Given the description of an element on the screen output the (x, y) to click on. 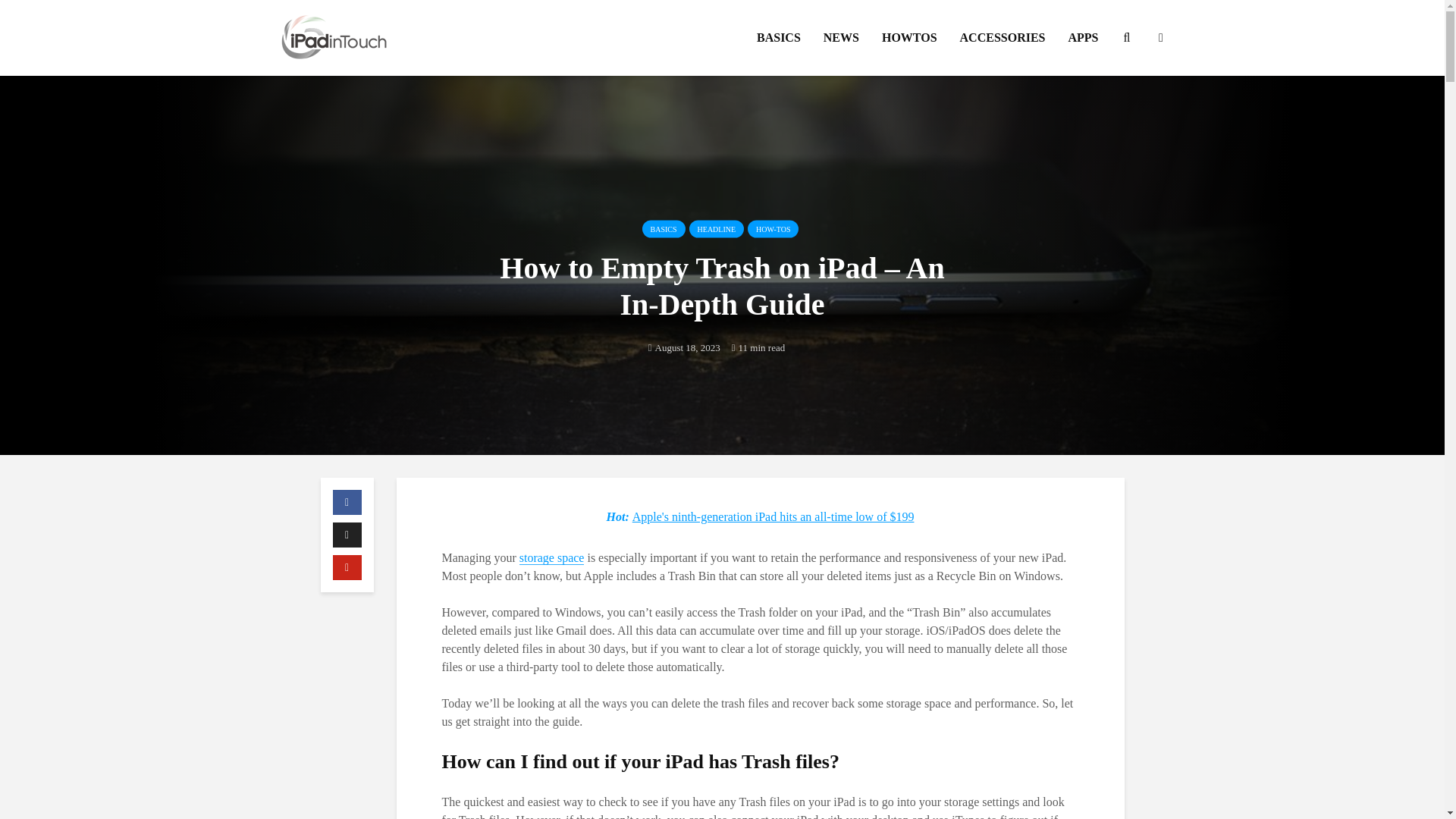
HEADLINE (716, 228)
HOWTOS (909, 37)
BASICS (663, 228)
NEWS (841, 37)
BASICS (778, 37)
HOW-TOS (772, 228)
ACCESSORIES (1003, 37)
APPS (1083, 37)
storage space (552, 558)
